Given the description of an element on the screen output the (x, y) to click on. 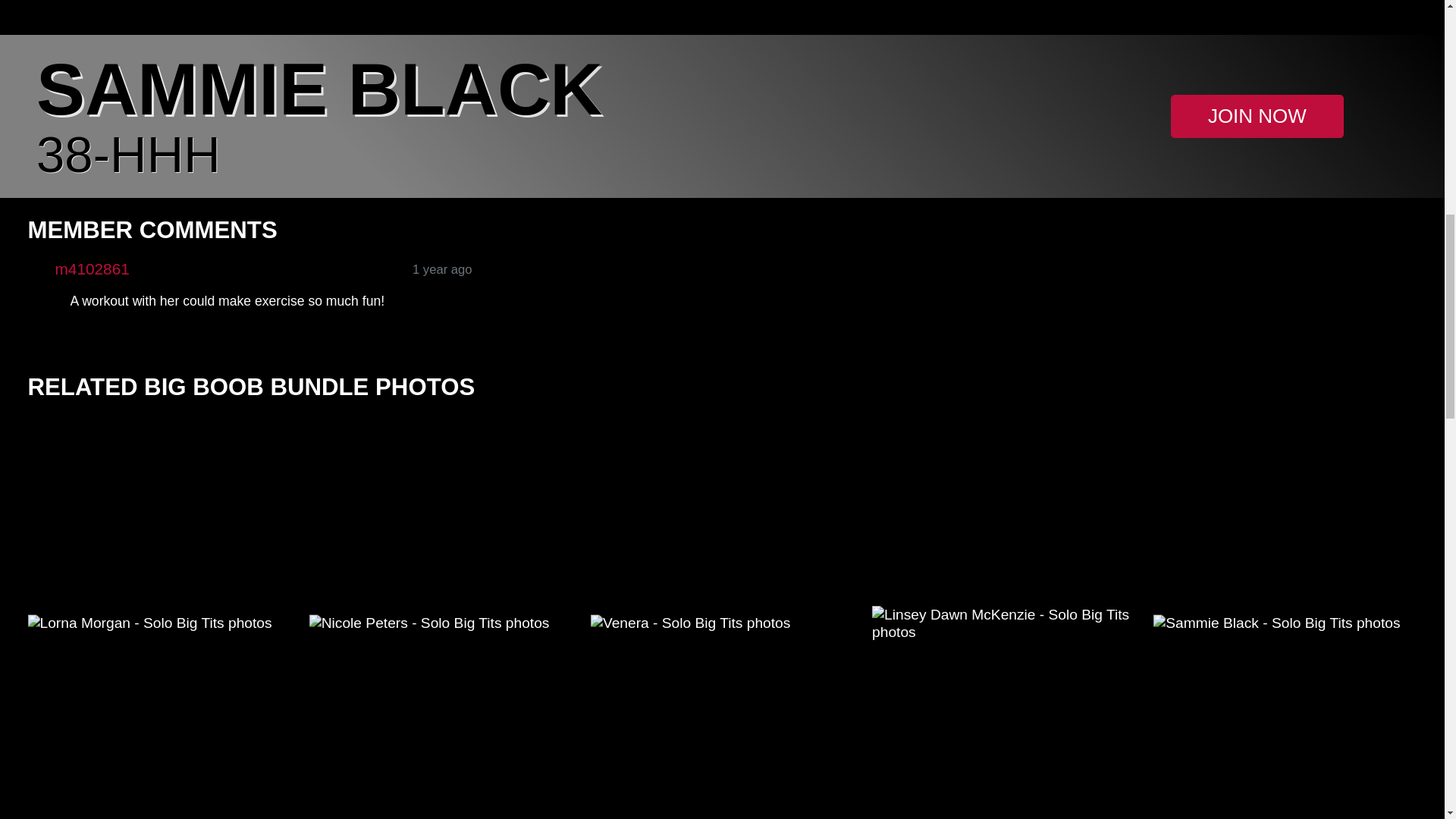
Nicole Peters - Solo Big Tits photos (440, 623)
Venera - Solo Big Tits photos (722, 623)
m4102861 (92, 268)
Sammie Black - Solo Big Tits photos (1284, 623)
Linsey Dawn McKenzie - Solo Big Tits photos (1003, 623)
Lorna Morgan - Solo Big Tits photos (159, 623)
